Given the description of an element on the screen output the (x, y) to click on. 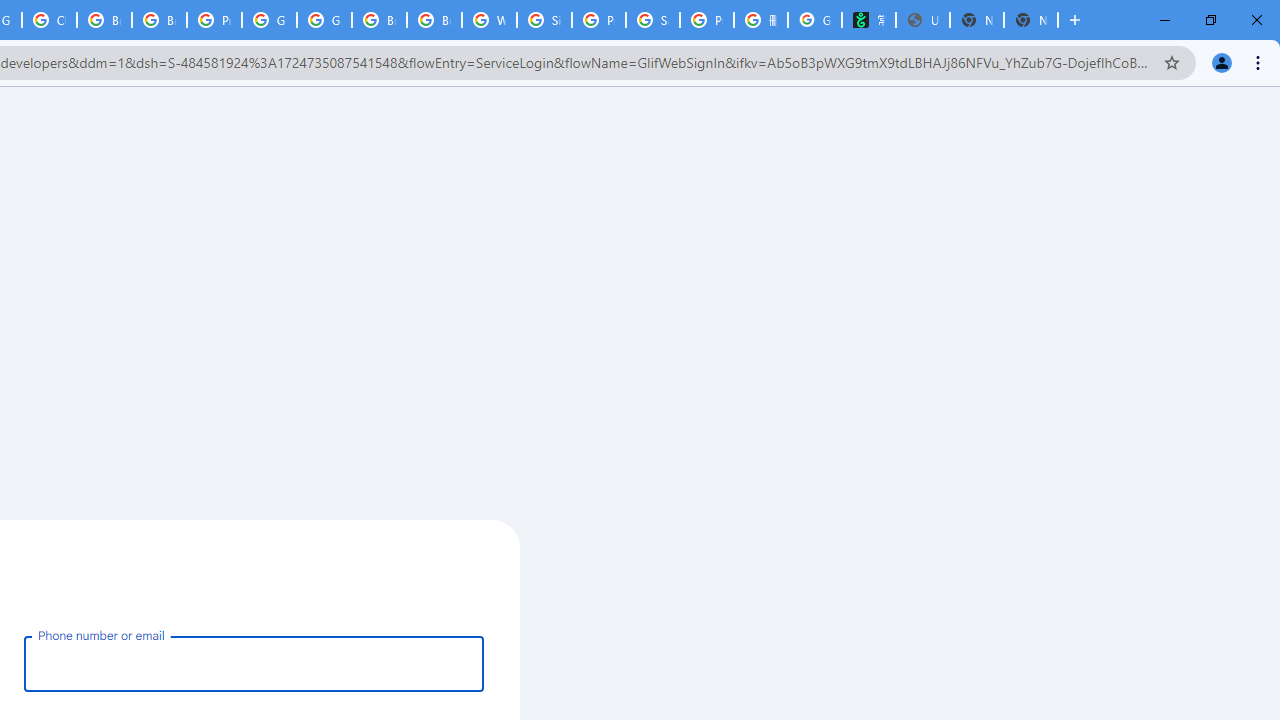
Untitled (922, 20)
Phone number or email (253, 663)
Browse Chrome as a guest - Computer - Google Chrome Help (379, 20)
